Given the description of an element on the screen output the (x, y) to click on. 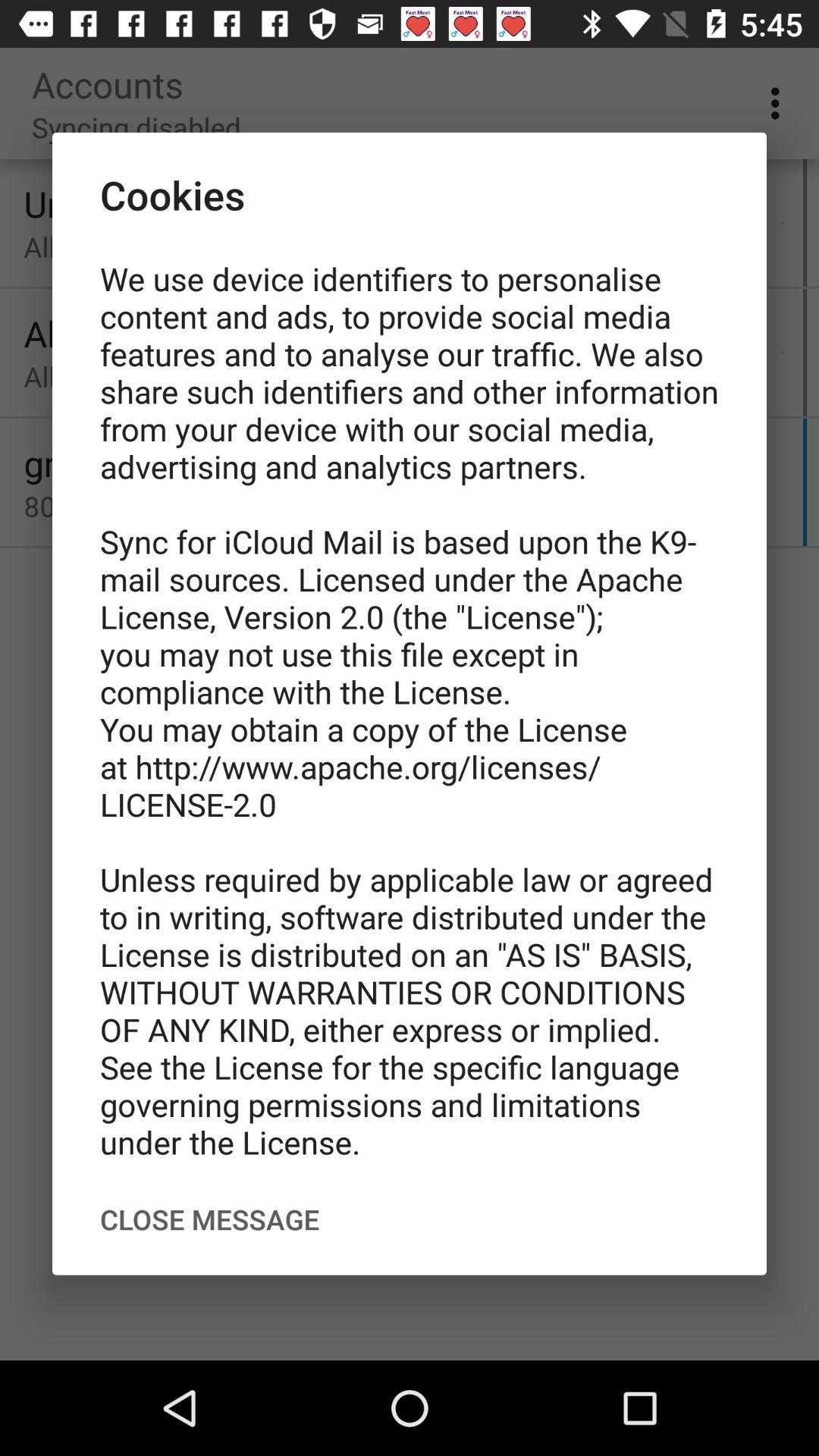
press the item below the we use device icon (209, 1219)
